Given the description of an element on the screen output the (x, y) to click on. 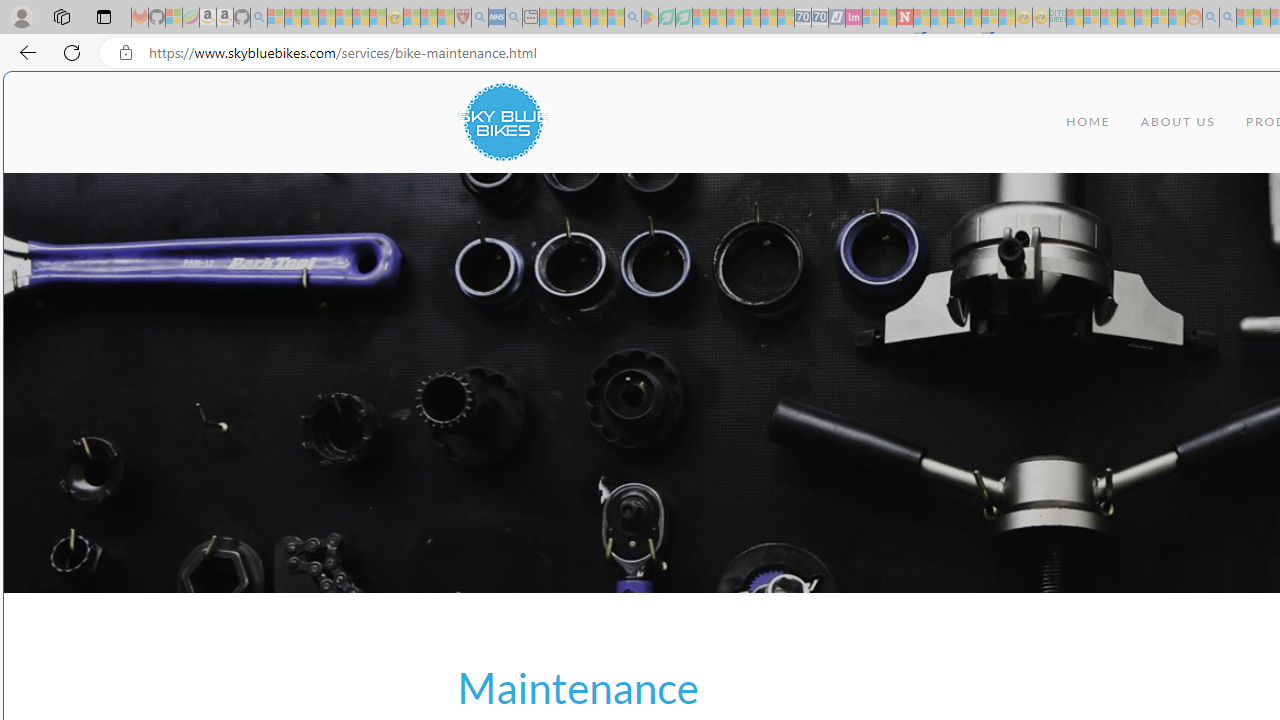
Jobs - lastminute.com Investor Portal - Sleeping (853, 17)
MSNBC - MSN - Sleeping (1074, 17)
Expert Portfolios - Sleeping (1125, 17)
Pets - MSN - Sleeping (598, 17)
